Given the description of an element on the screen output the (x, y) to click on. 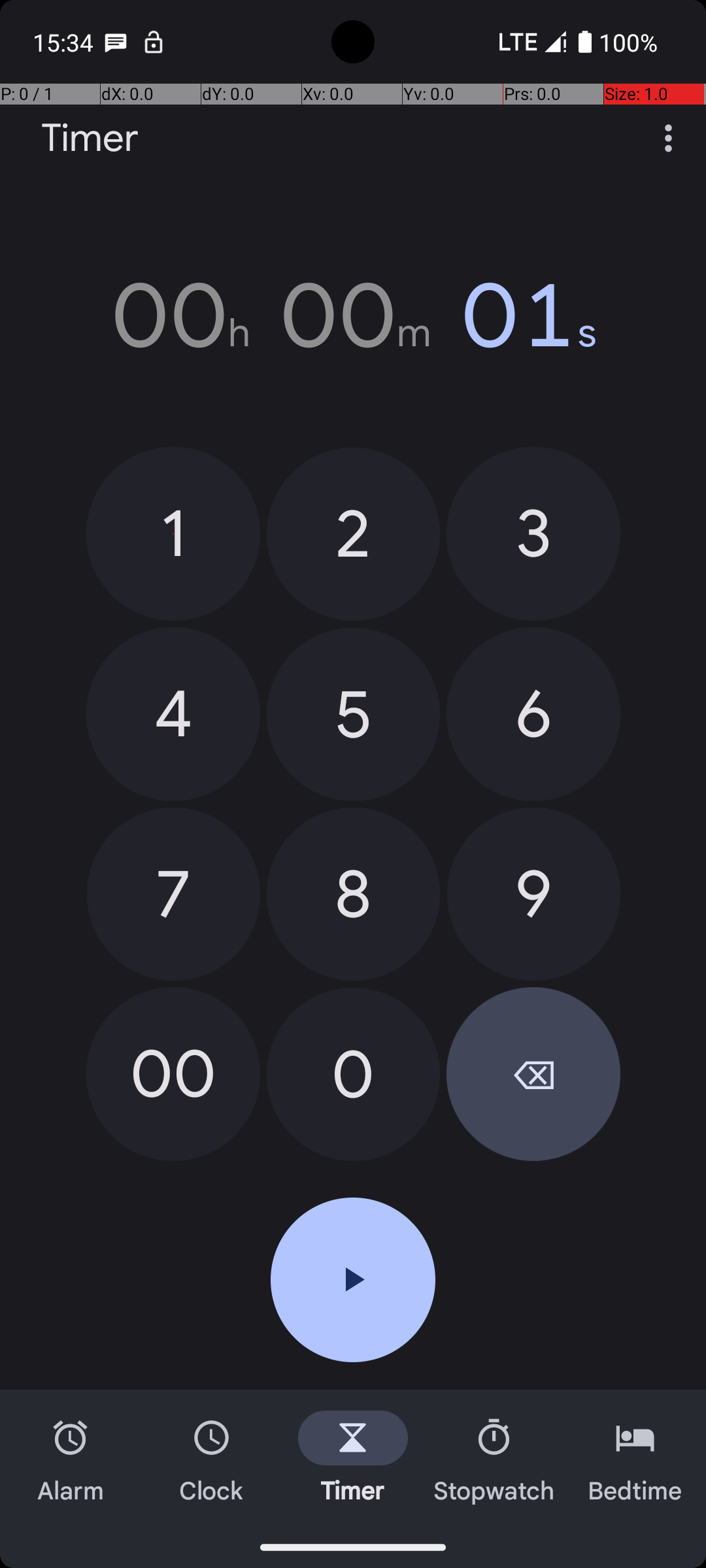
00h 00m 01s Element type: android.widget.TextView (353, 315)
Tasks notification: Connection security Element type: android.widget.ImageView (153, 41)
